Given the description of an element on the screen output the (x, y) to click on. 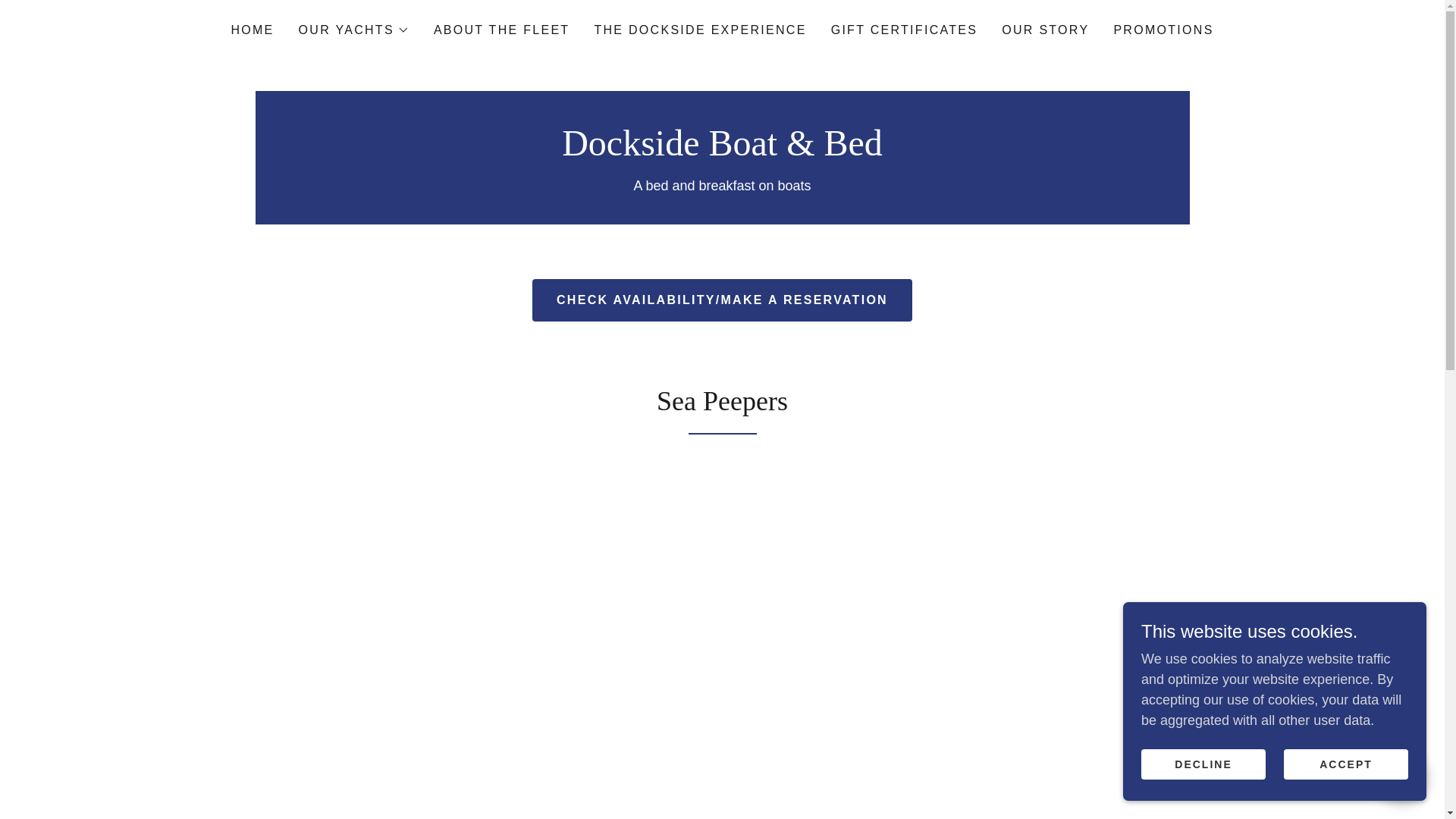
PROMOTIONS (1162, 30)
ABOUT THE FLEET (502, 30)
OUR STORY (1045, 30)
GIFT CERTIFICATES (904, 30)
THE DOCKSIDE EXPERIENCE (699, 30)
HOME (251, 30)
OUR YACHTS (353, 30)
